Given the description of an element on the screen output the (x, y) to click on. 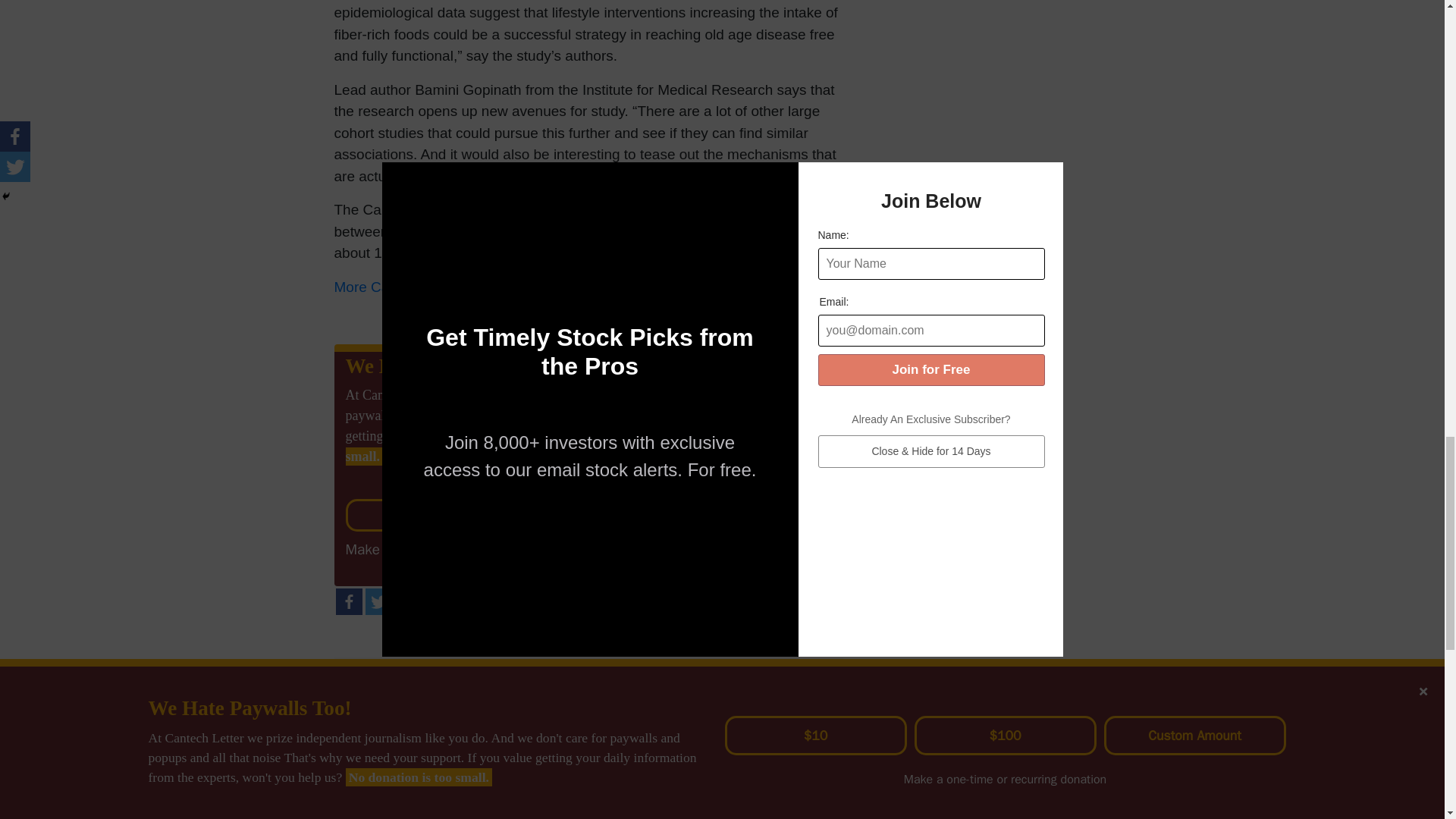
Custom Amount (753, 514)
Facebook (347, 601)
More (407, 601)
Twitter (378, 601)
More Cantech Science (406, 286)
